Given the description of an element on the screen output the (x, y) to click on. 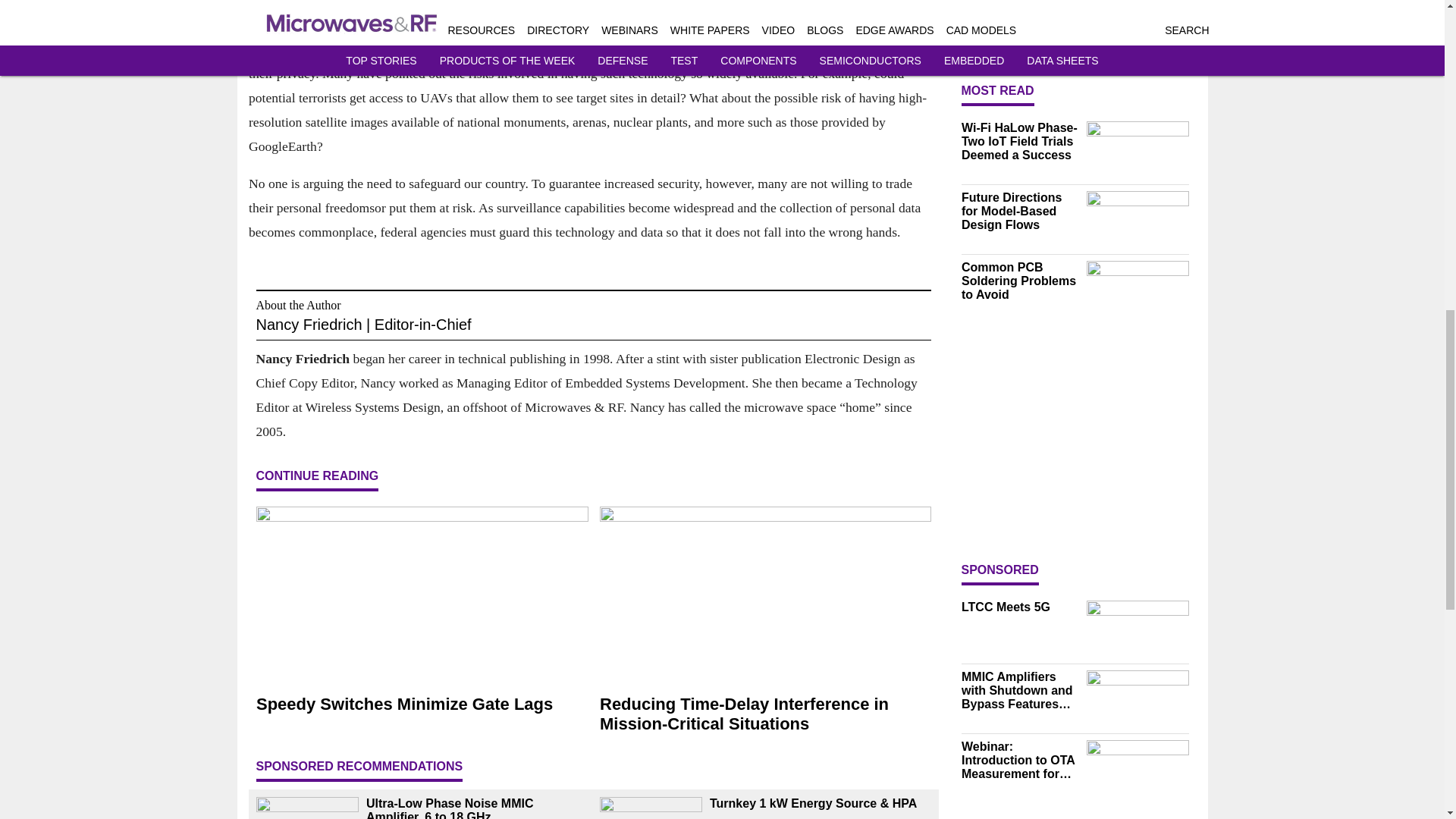
Speedy Switches Minimize Gate Lags (422, 704)
Ultra-Low Phase Noise MMIC Amplifier, 6 to 18 GHz (476, 807)
